Given the description of an element on the screen output the (x, y) to click on. 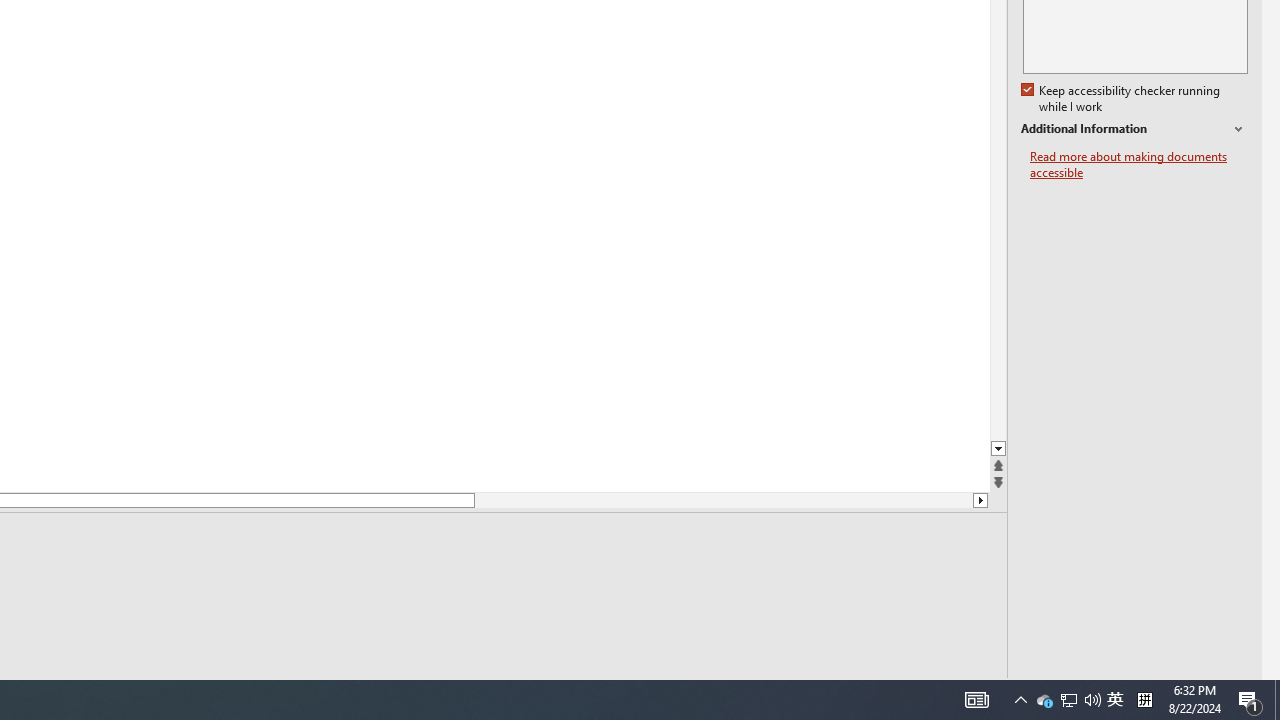
Slide Show Next On (924, 691)
Page down (723, 500)
Read more about making documents accessible (1139, 164)
Additional Information (1134, 129)
Keep accessibility checker running while I work (1122, 99)
Slide Show Previous On (860, 691)
Menu On (892, 691)
